Given the description of an element on the screen output the (x, y) to click on. 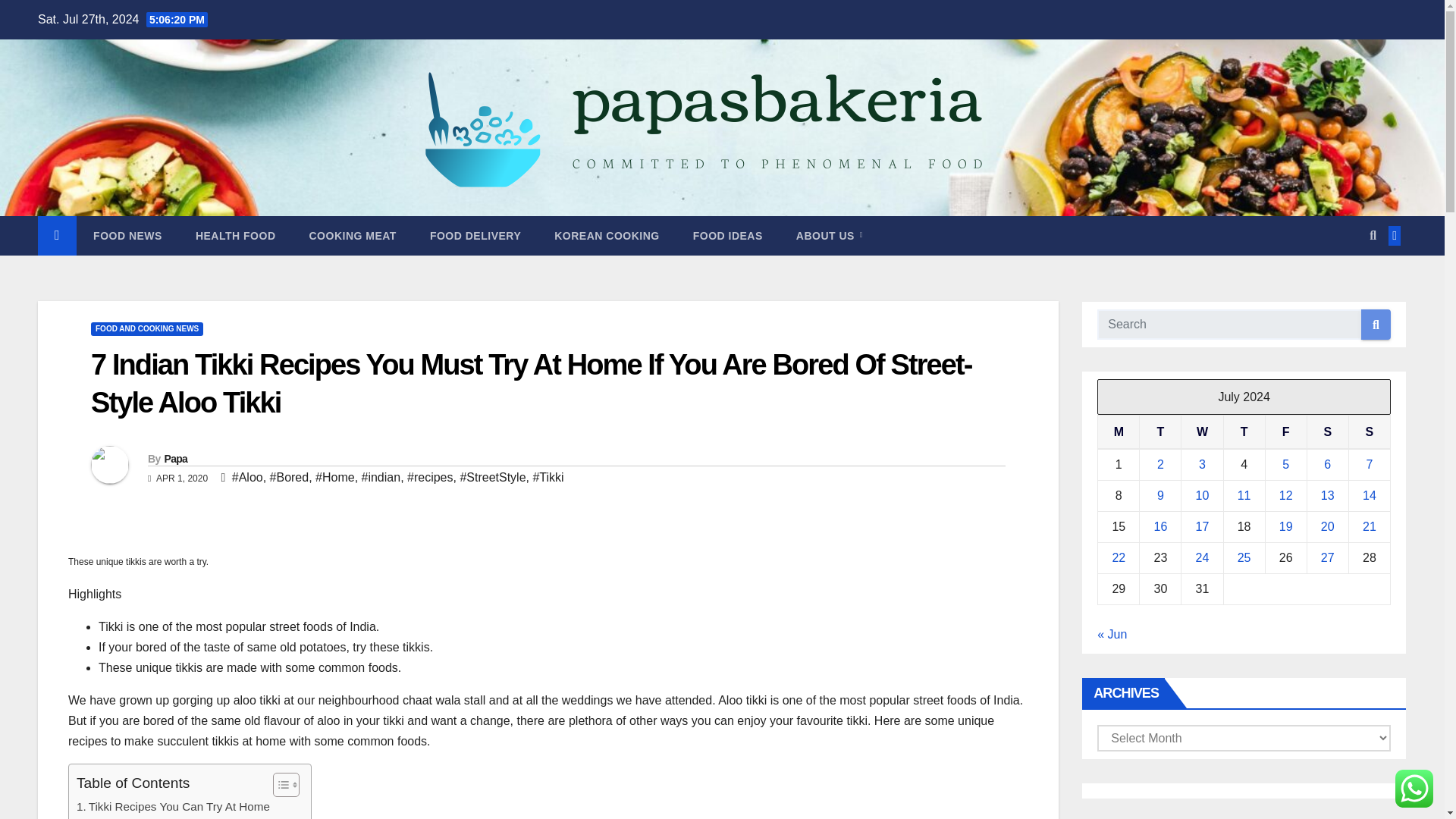
Papa (175, 458)
About Us (828, 235)
COOKING MEAT (352, 235)
Cooking Meat (352, 235)
2. Khoya Stuffed Matar Ki Tikki (174, 817)
Food Ideas (727, 235)
Korean Cooking (606, 235)
FOOD DELIVERY (475, 235)
ABOUT US (828, 235)
Tikki Recipes You Can Try At Home (173, 806)
FOOD AND COOKING NEWS (146, 328)
Food Delivery (475, 235)
Food News (128, 235)
FOOD IDEAS (727, 235)
